Given the description of an element on the screen output the (x, y) to click on. 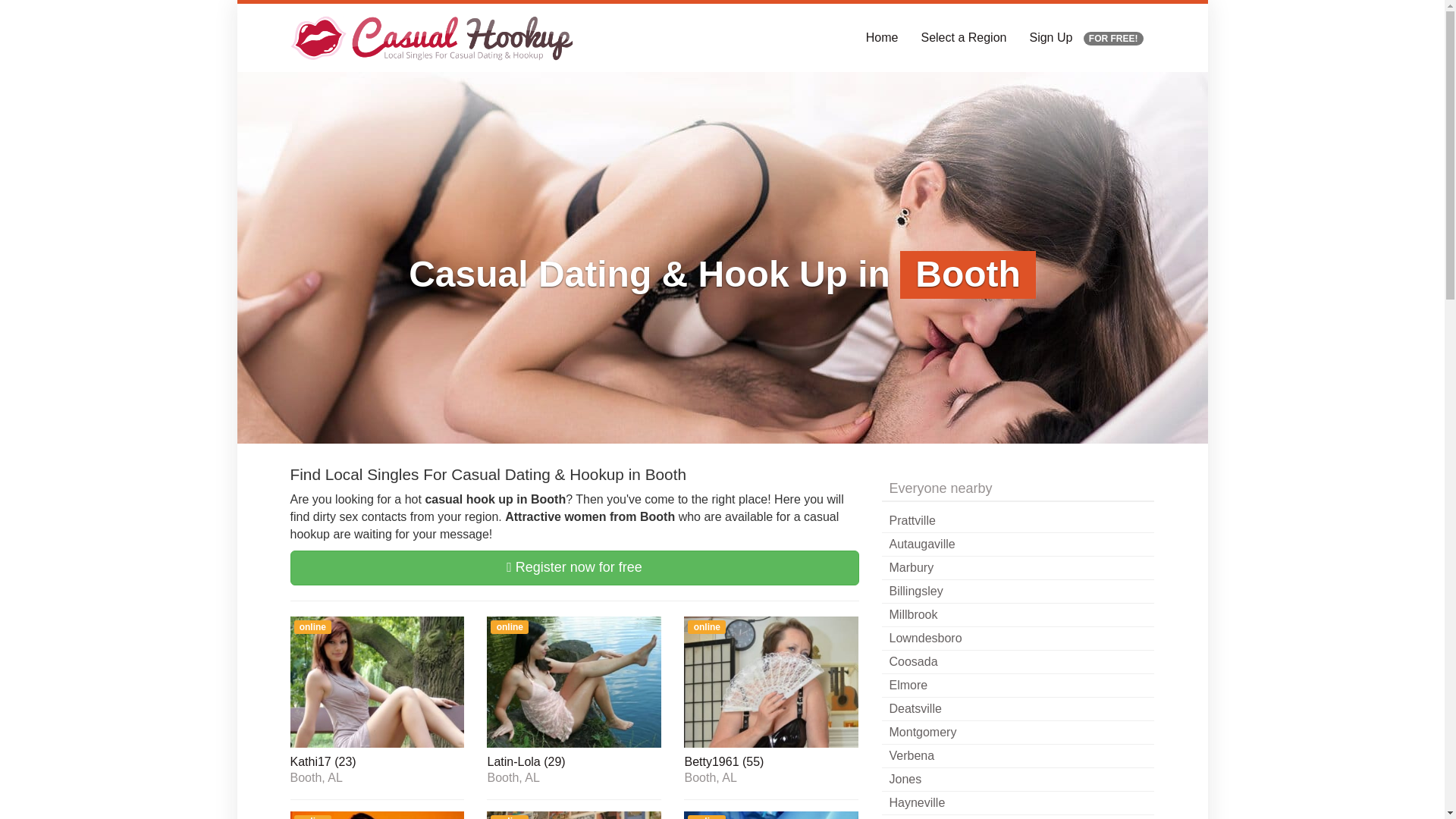
Date Betty1961 now! (771, 681)
Booth, AL (771, 777)
Booth, AL (573, 777)
Sign Up FOR FREE! (1085, 37)
online (573, 681)
Date Betty1961 now! (771, 763)
Home (882, 37)
Sign up for FREE (1085, 37)
online (376, 681)
online (771, 815)
